Given the description of an element on the screen output the (x, y) to click on. 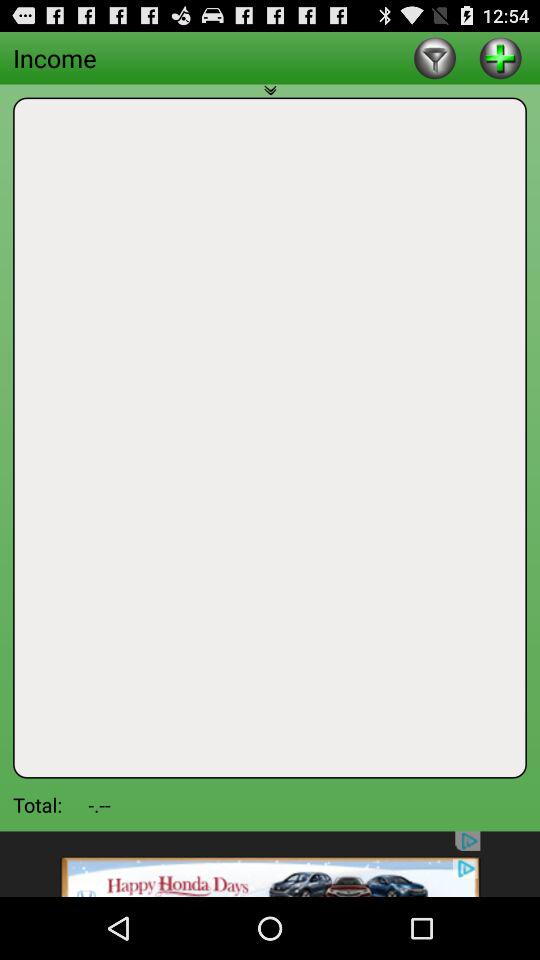
subtract item (434, 57)
